Given the description of an element on the screen output the (x, y) to click on. 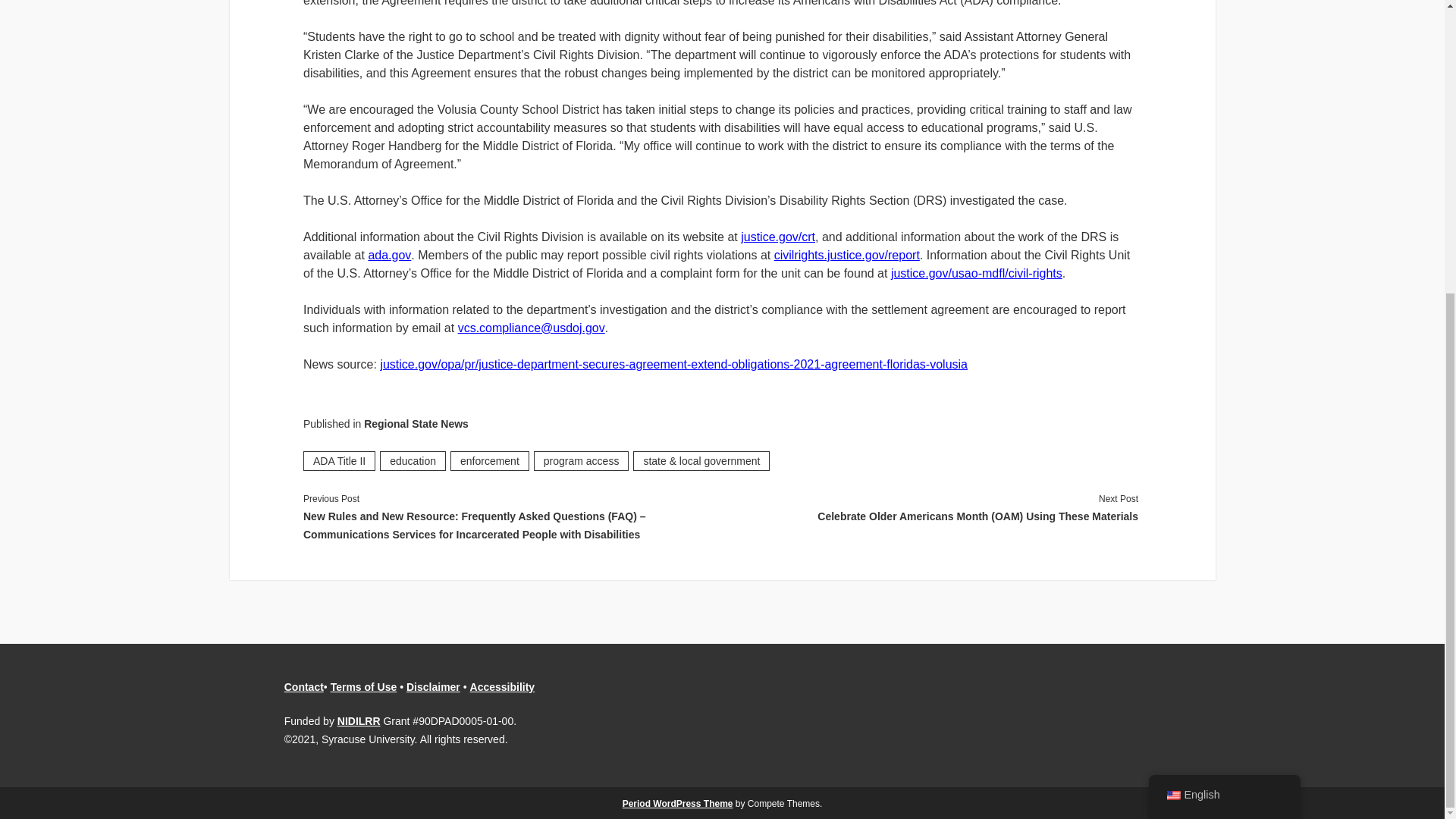
English (1172, 345)
View all posts tagged education (412, 460)
View all posts tagged enforcement (489, 460)
View all posts in Regional State News (416, 423)
View all posts tagged ADA Title II (338, 460)
View all posts tagged program access (581, 460)
